Given the description of an element on the screen output the (x, y) to click on. 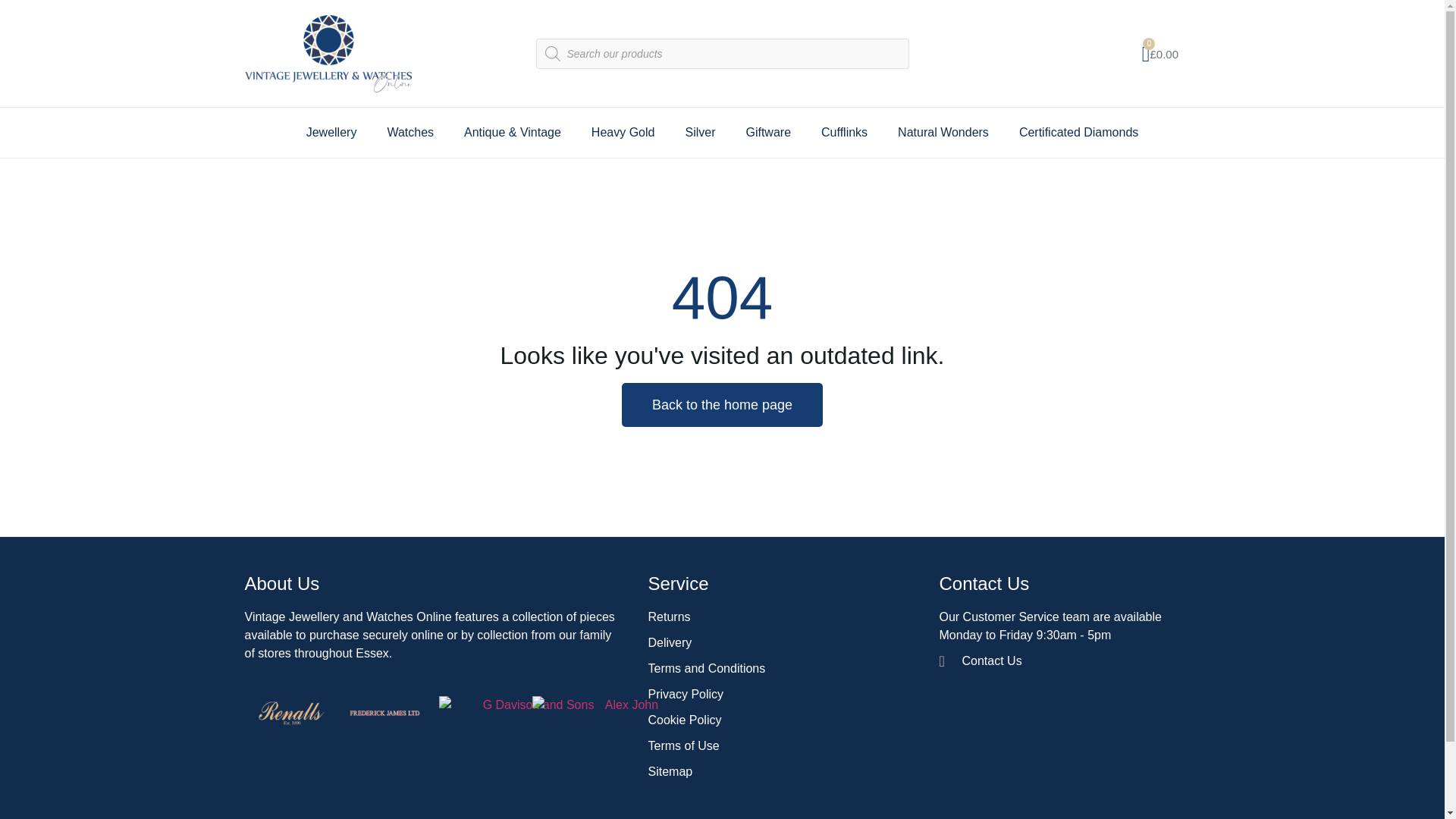
Heavy Gold (622, 132)
Watches (409, 132)
Silver (699, 132)
Jewellery (331, 132)
